Given the description of an element on the screen output the (x, y) to click on. 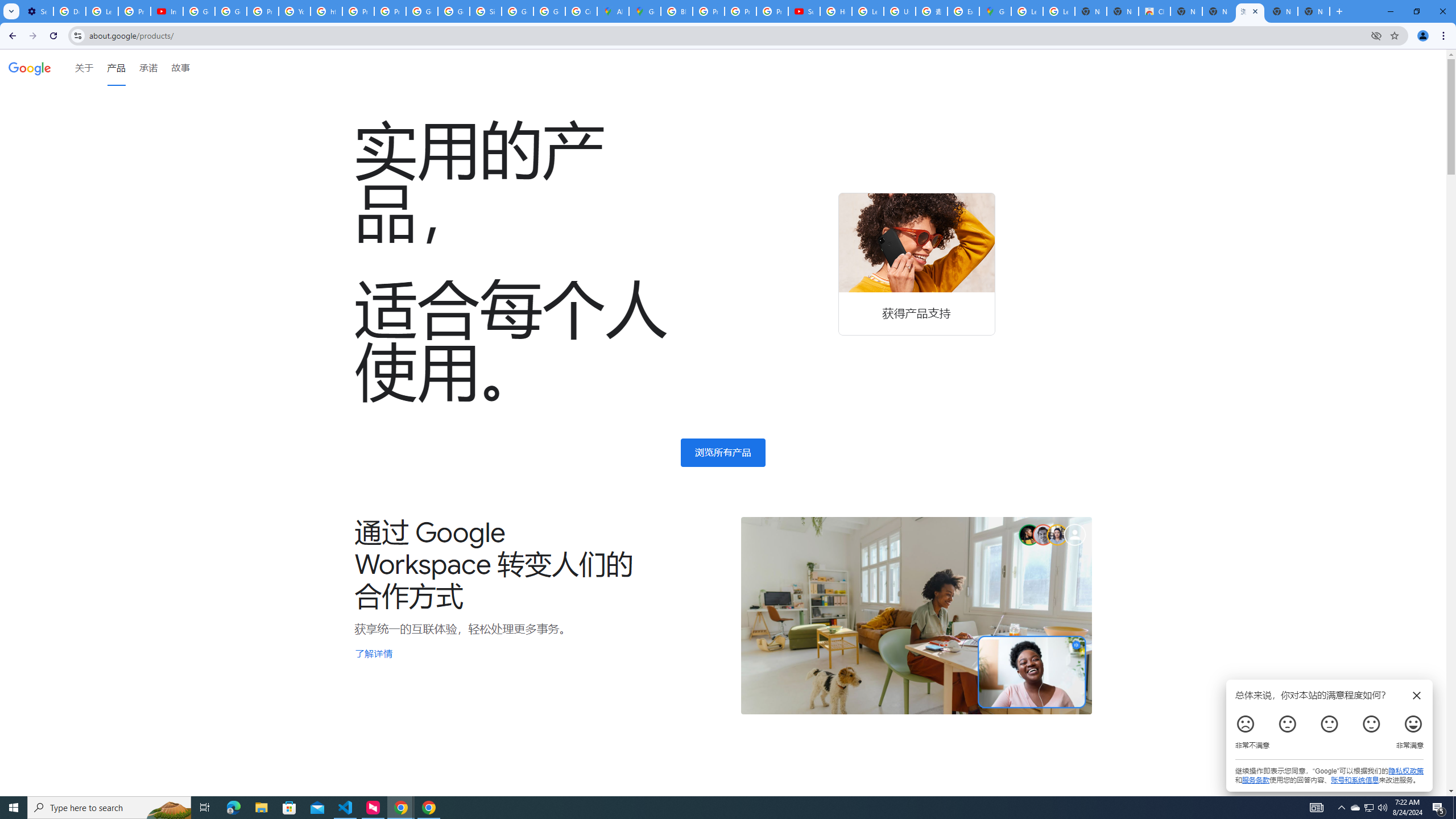
Privacy Help Center - Policies Help (740, 11)
